Given the description of an element on the screen output the (x, y) to click on. 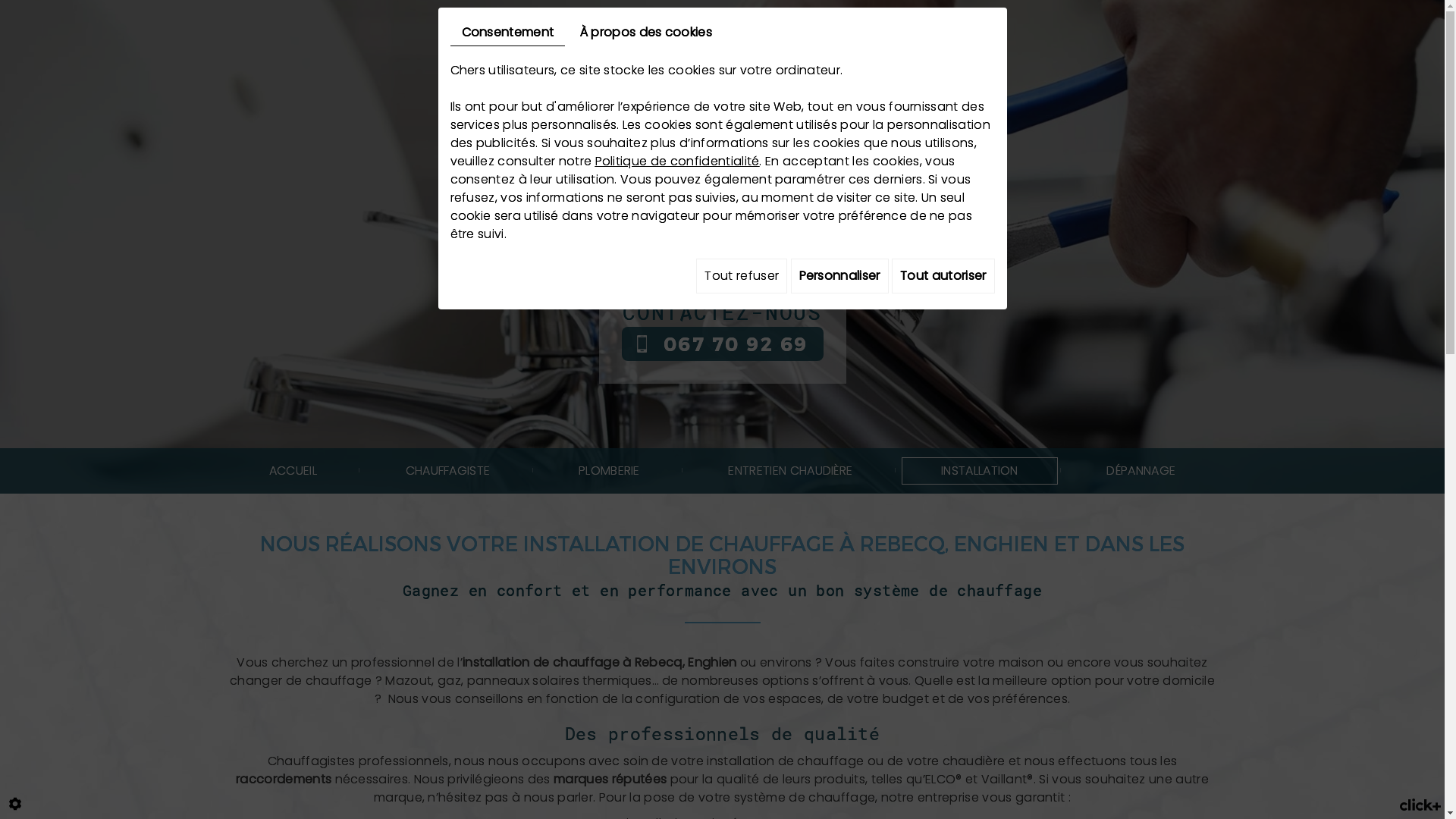
Tout refuser Element type: text (741, 275)
Tout autoriser Element type: text (942, 275)
PLOMBERIE Element type: text (609, 470)
CHAUFFAGISTE Element type: text (447, 470)
Consentement Element type: text (507, 32)
INSTALLATION Element type: text (979, 470)
Personnaliser Element type: text (839, 275)
ACCUEIL Element type: text (292, 470)
